Given the description of an element on the screen output the (x, y) to click on. 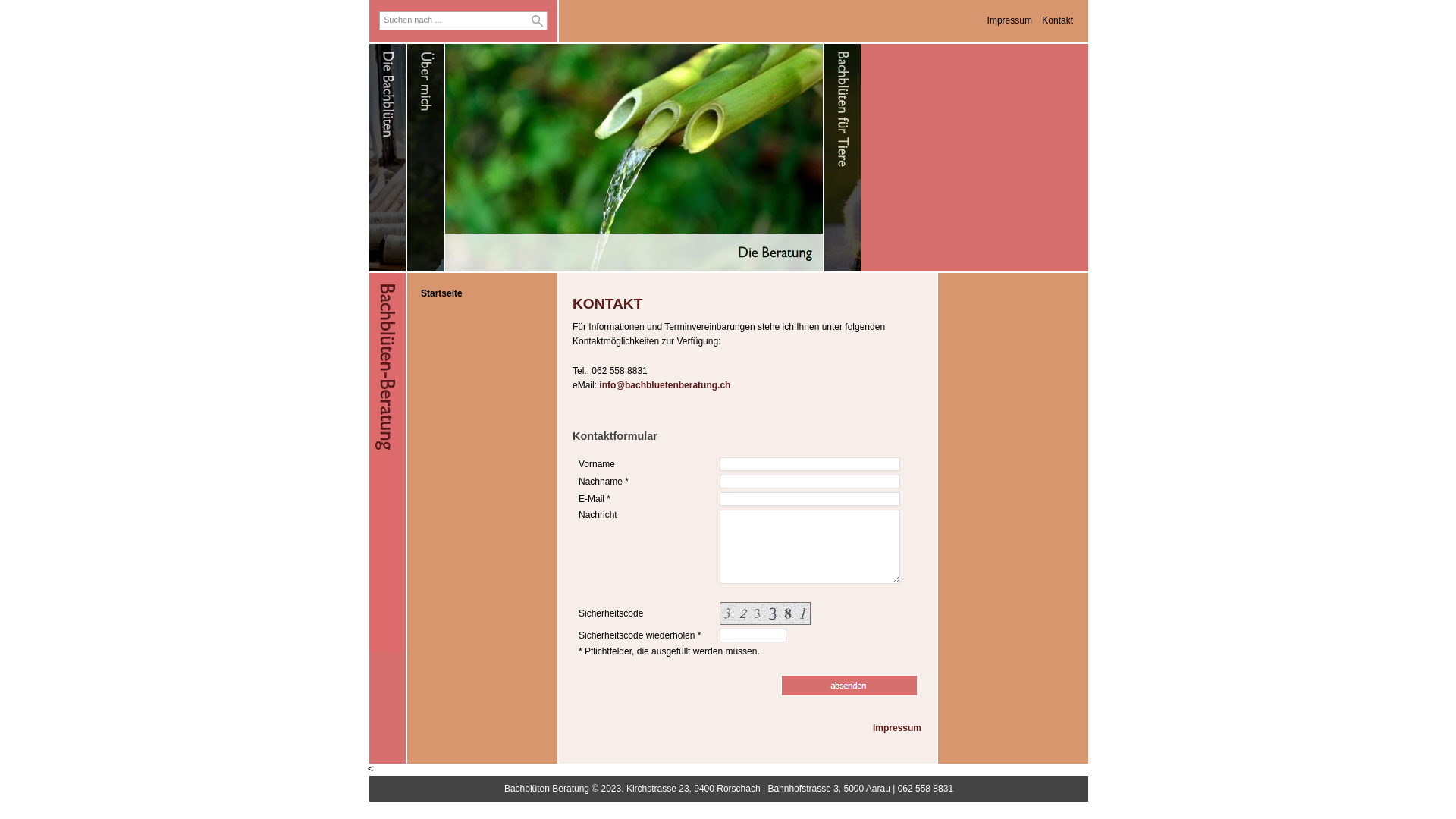
info@bachbluetenberatung.ch Element type: text (664, 384)
Impressum Element type: text (1009, 20)
Startseite Element type: text (441, 293)
Impressum Element type: text (896, 727)
Kontakt Element type: text (1057, 20)
